Given the description of an element on the screen output the (x, y) to click on. 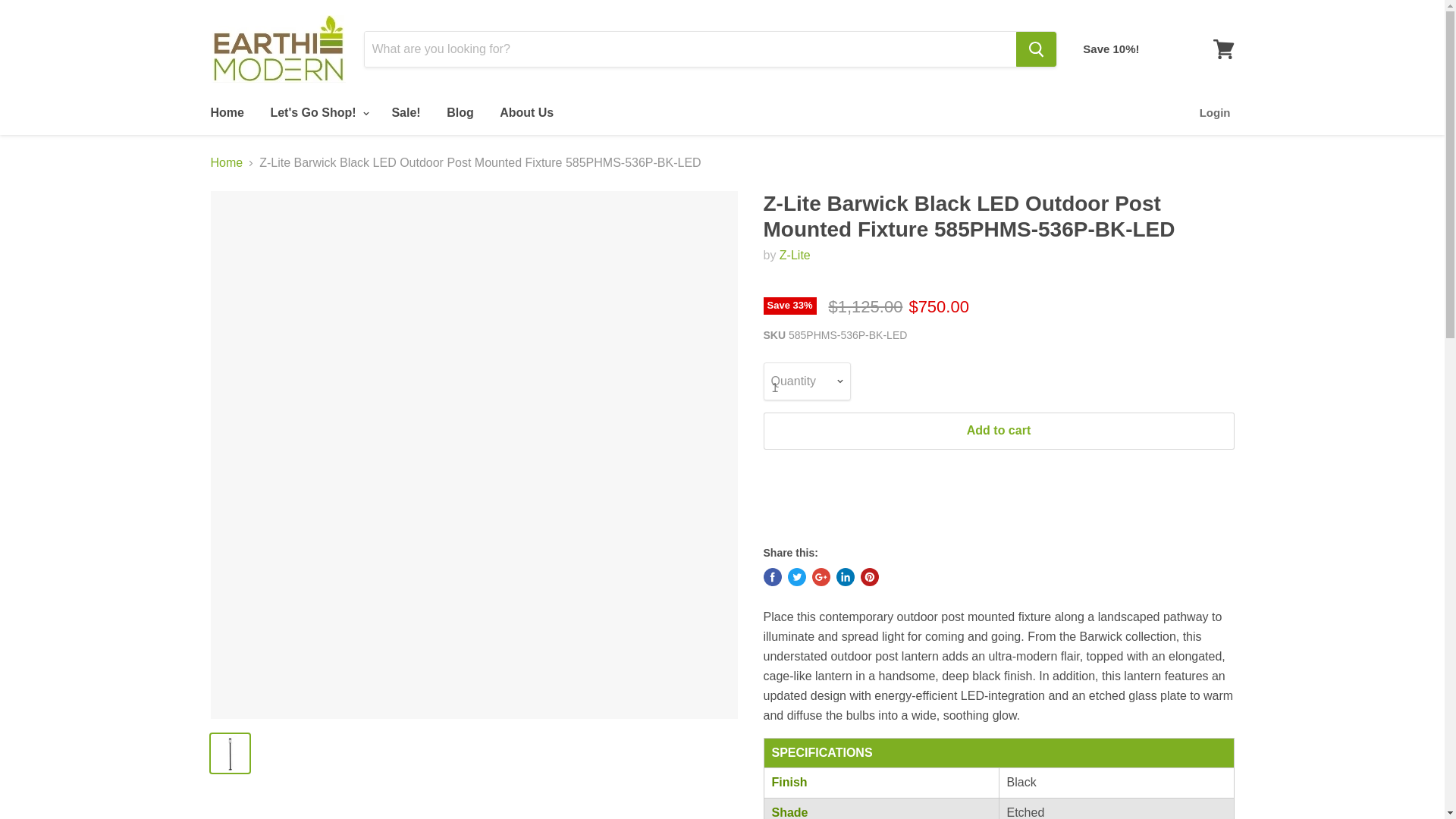
Login (1215, 112)
Home (226, 112)
Let's Go Shop! (318, 112)
Sale! (405, 112)
View cart (1223, 48)
Blog (459, 112)
Z-Lite (794, 254)
About Us (525, 112)
